Given the description of an element on the screen output the (x, y) to click on. 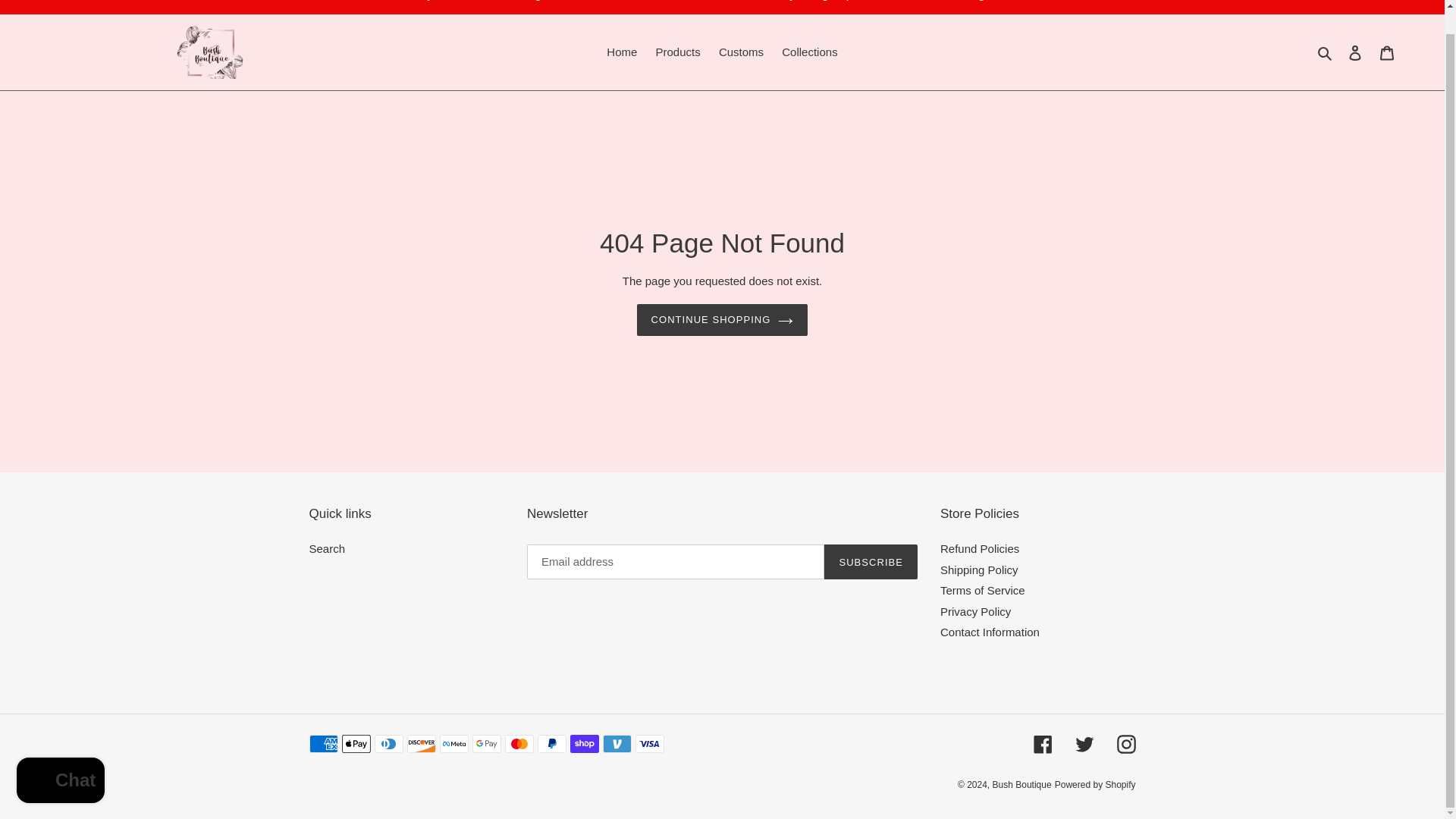
Products (677, 52)
Twitter (1084, 743)
CONTINUE SHOPPING (722, 319)
Cart (1387, 52)
Shipping Policy (978, 569)
Search (327, 548)
Refund Policies (979, 548)
Bush Boutique (1021, 784)
Collections (809, 52)
Facebook (1041, 743)
Powered by Shopify (1094, 784)
Customs (741, 52)
SUBSCRIBE (870, 561)
Instagram (1125, 743)
Privacy Policy (975, 611)
